Given the description of an element on the screen output the (x, y) to click on. 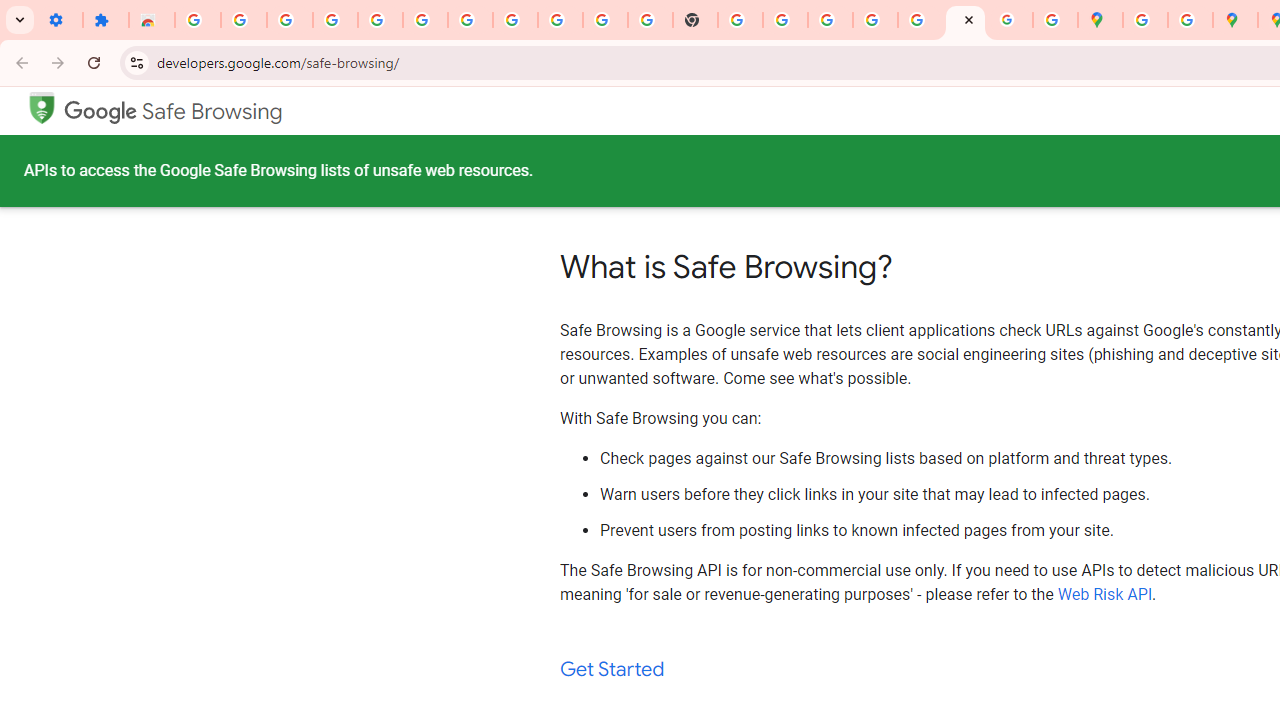
YouTube (605, 20)
New Tab (695, 20)
Extensions (106, 20)
Google Safe Browsing (173, 111)
Get Started (612, 669)
Google Account (559, 20)
Web Risk API (1105, 594)
